Given the description of an element on the screen output the (x, y) to click on. 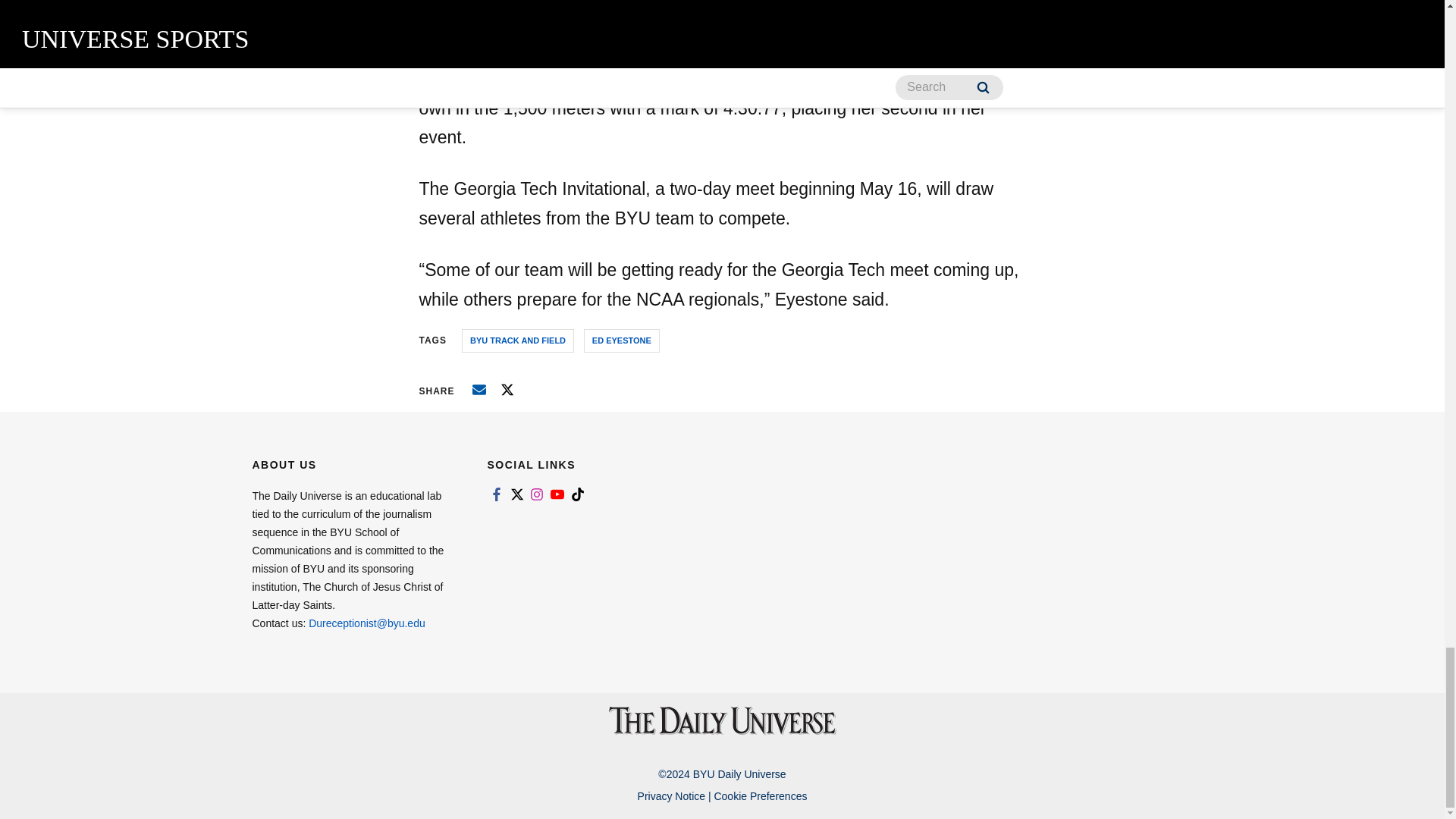
Link to youtube (557, 494)
Cookie Preferences (759, 796)
Link to facebook (495, 494)
ED EYESTONE (621, 340)
BYU TRACK AND FIELD (517, 340)
Link to instagram (536, 494)
Link to twitter (515, 494)
Email (478, 389)
Privacy Notice (670, 796)
Link to tiktok (577, 494)
